Given the description of an element on the screen output the (x, y) to click on. 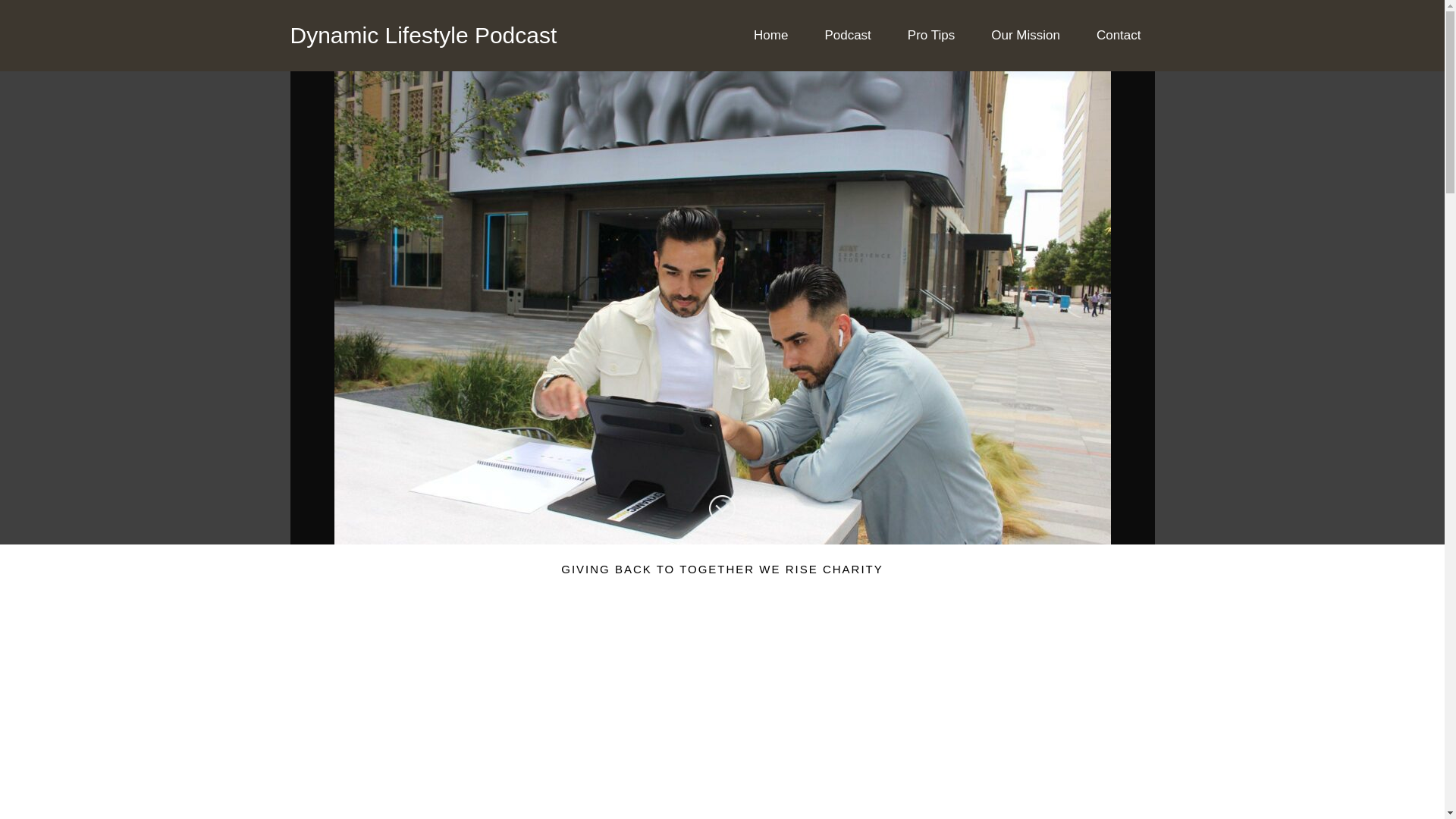
Pro Tips (930, 35)
Contact (1118, 35)
Our Mission (1025, 35)
Dynamic Lifestyle Podcast (422, 34)
Podcast (846, 35)
